Given the description of an element on the screen output the (x, y) to click on. 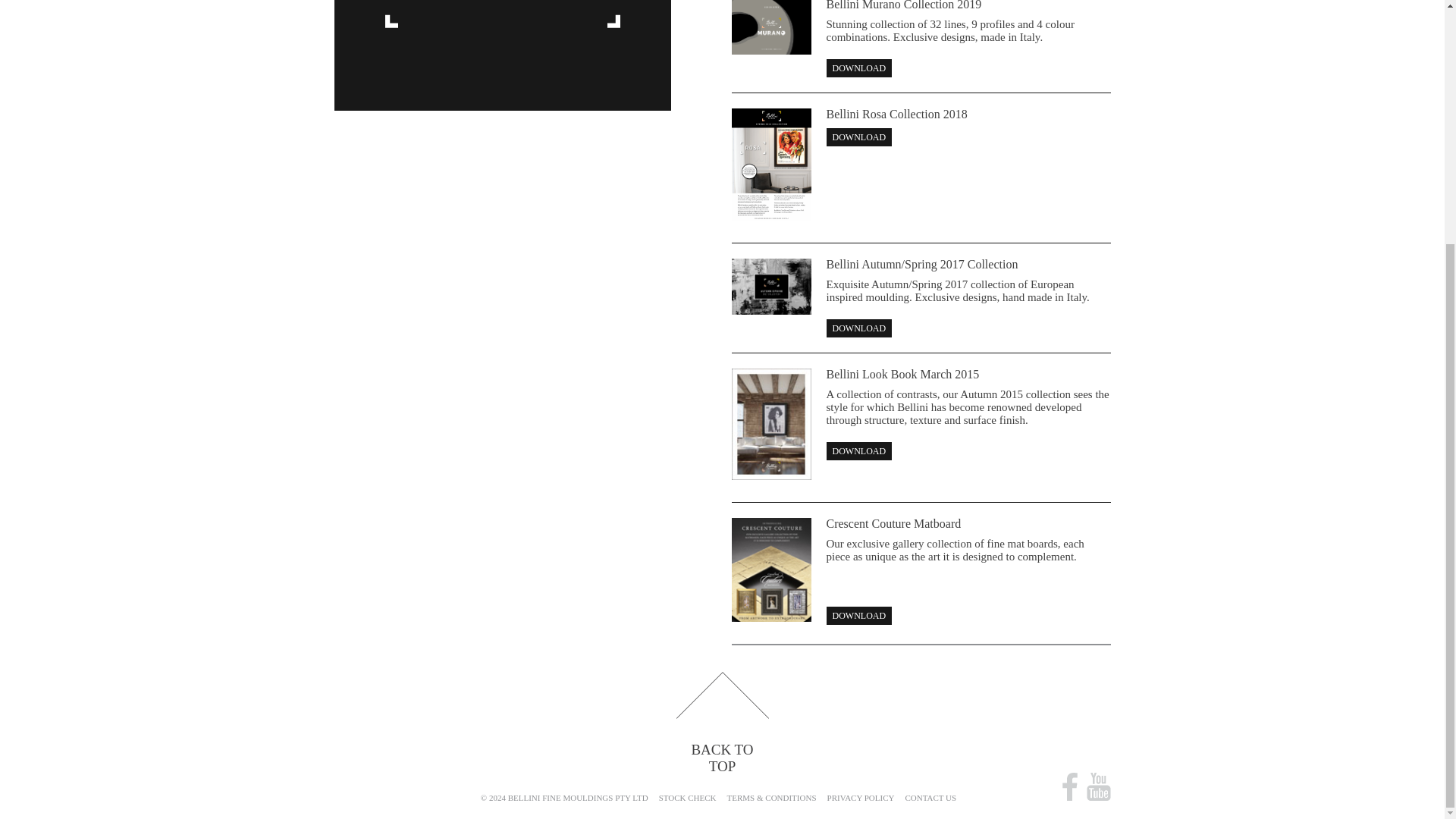
Bellini Murano Collection 2019 (904, 5)
Crescent Couture Matboard (893, 522)
BACK TO TOP (722, 722)
DOWNLOAD (859, 615)
PRIVACY POLICY (861, 797)
Bellini Rosa Collection 2018 (897, 113)
DOWNLOAD (859, 136)
DOWNLOAD (859, 451)
CONTACT US (930, 797)
DOWNLOAD (859, 328)
Bellini Look Book March 2015 (903, 373)
STOCK CHECK (687, 797)
DOWNLOAD (859, 67)
